Given the description of an element on the screen output the (x, y) to click on. 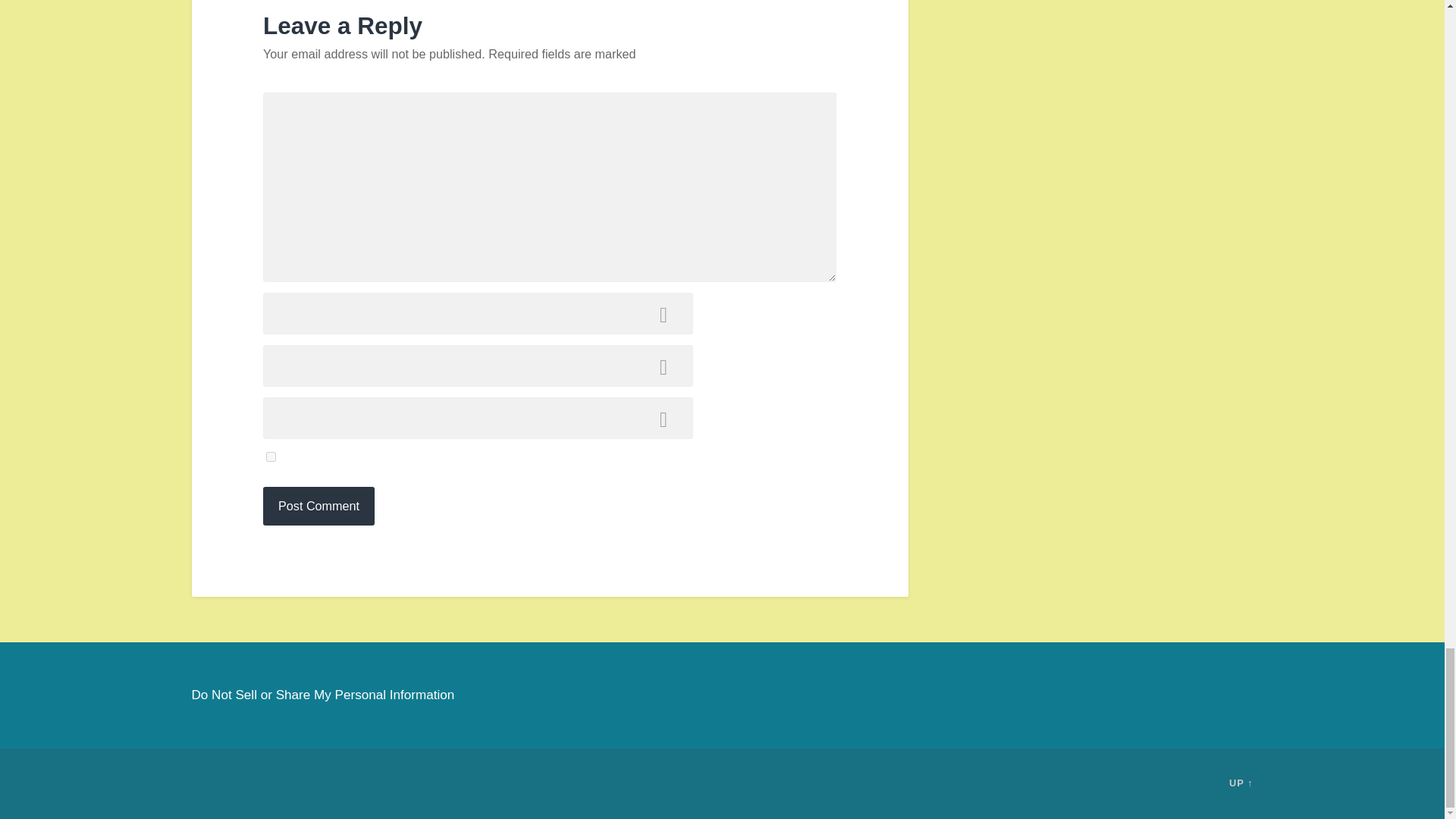
Post Comment (318, 505)
yes (271, 456)
To the top (1240, 782)
